Given the description of an element on the screen output the (x, y) to click on. 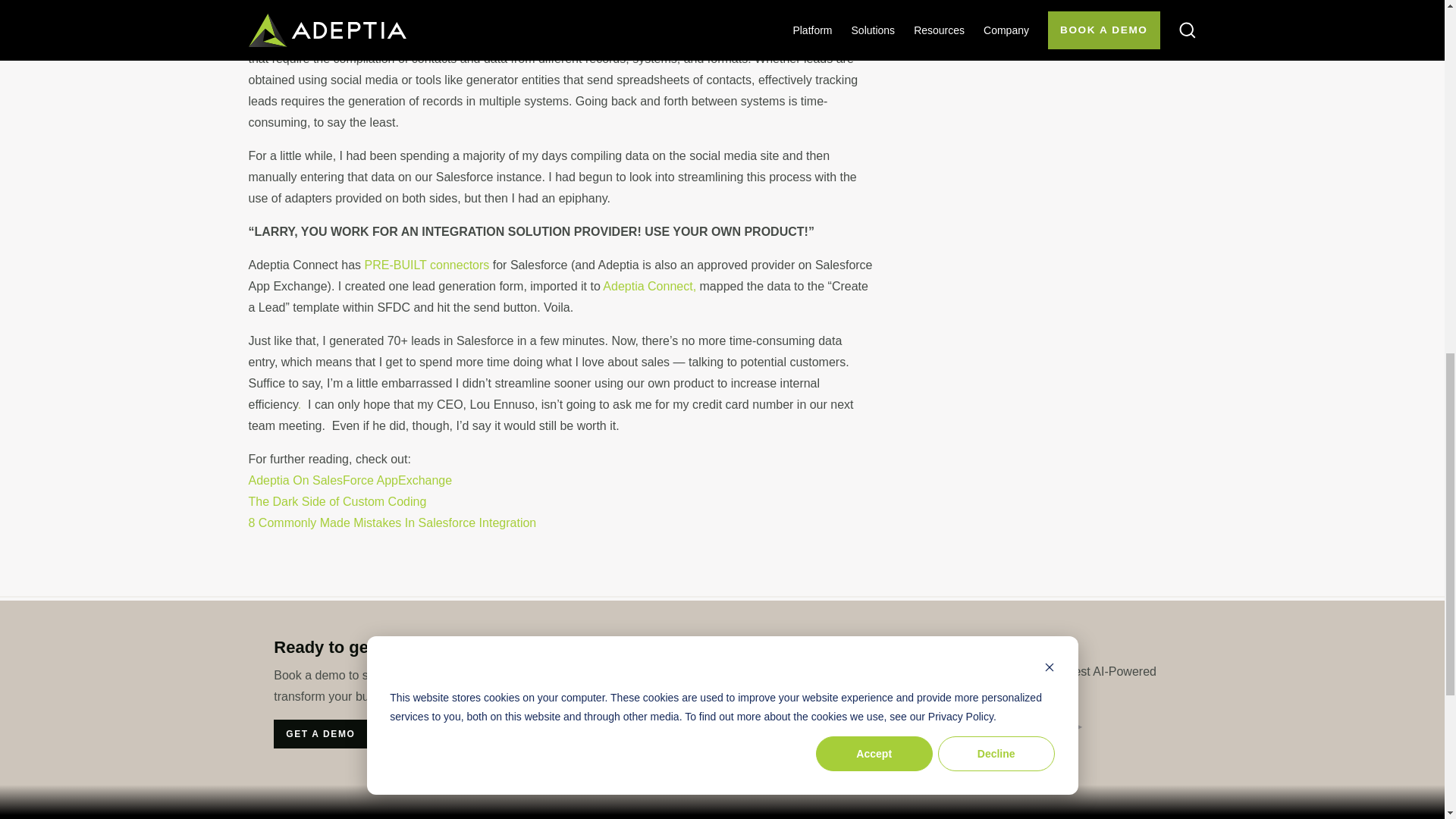
Get a Demo (319, 733)
Contact Us (745, 726)
Visit Adeptia Labs (1010, 726)
